Given the description of an element on the screen output the (x, y) to click on. 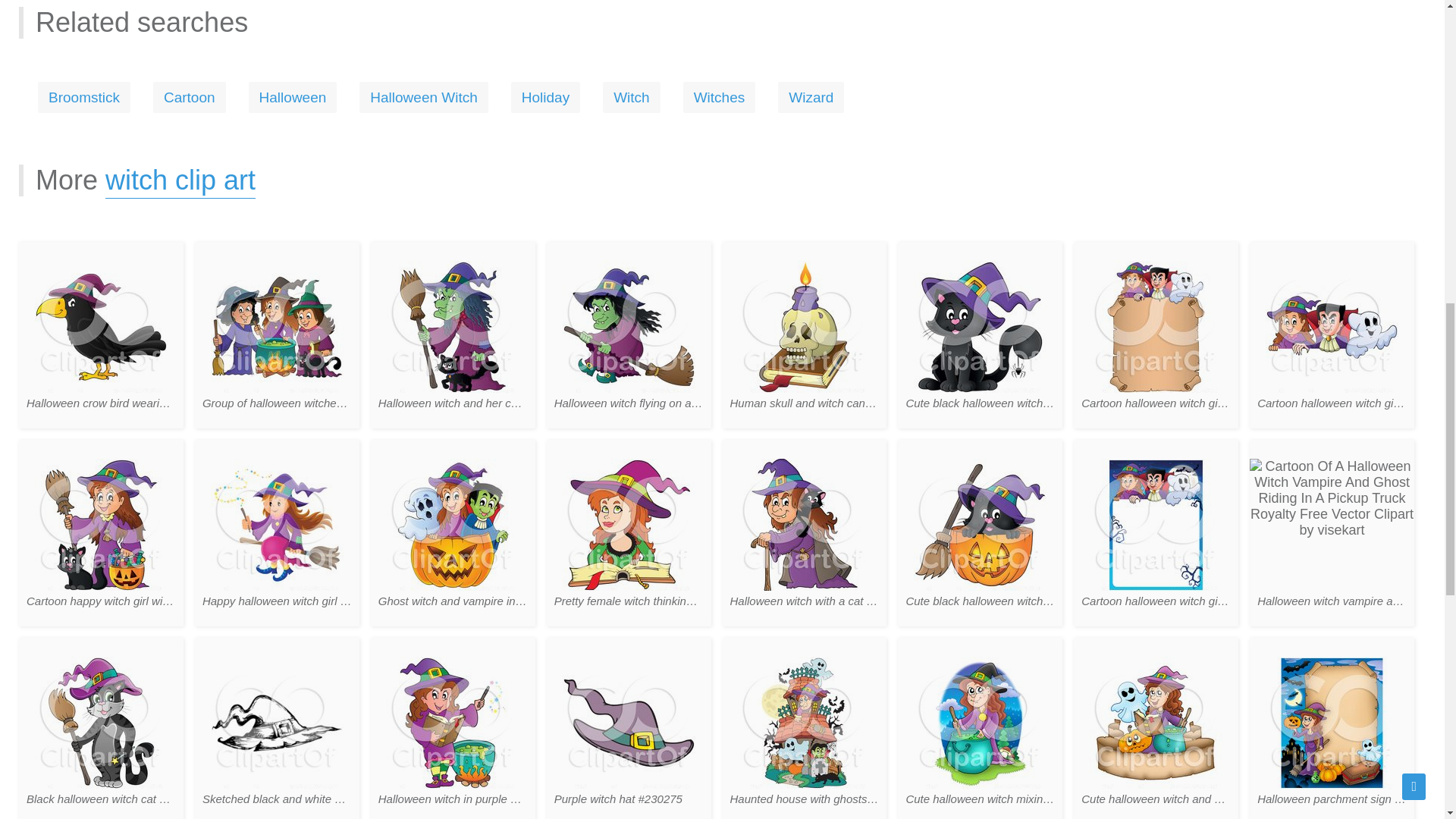
Witches (718, 97)
Holiday (545, 97)
Halloween (292, 97)
Halloween Witch (423, 97)
witch clip art (180, 181)
Cartoon (188, 97)
Witch (631, 97)
Wizard (810, 97)
Broomstick (84, 97)
